Given the description of an element on the screen output the (x, y) to click on. 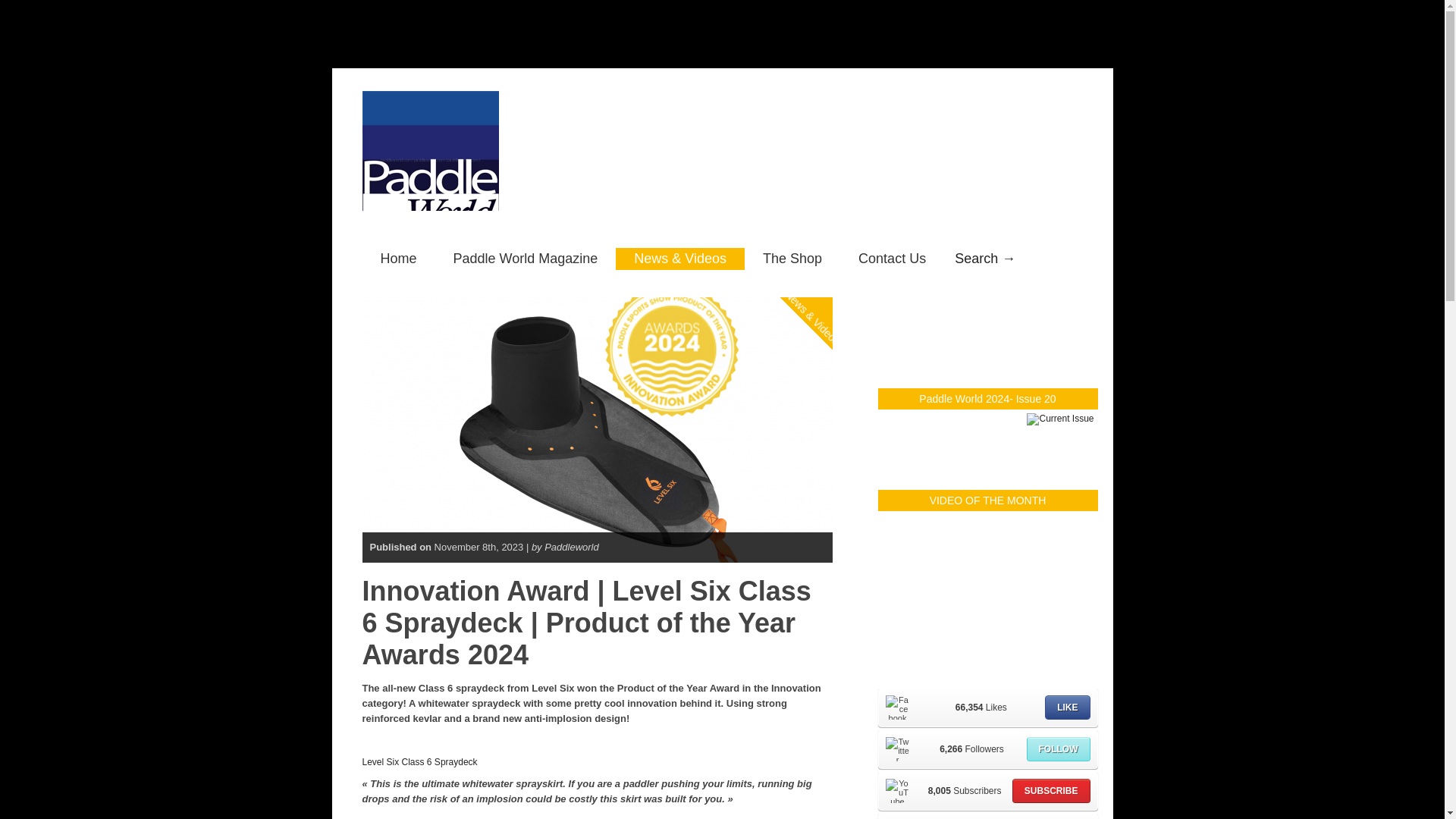
Home (398, 259)
Contact Us (891, 259)
The Shop (792, 259)
Paddle World Magazine (525, 259)
